Given the description of an element on the screen output the (x, y) to click on. 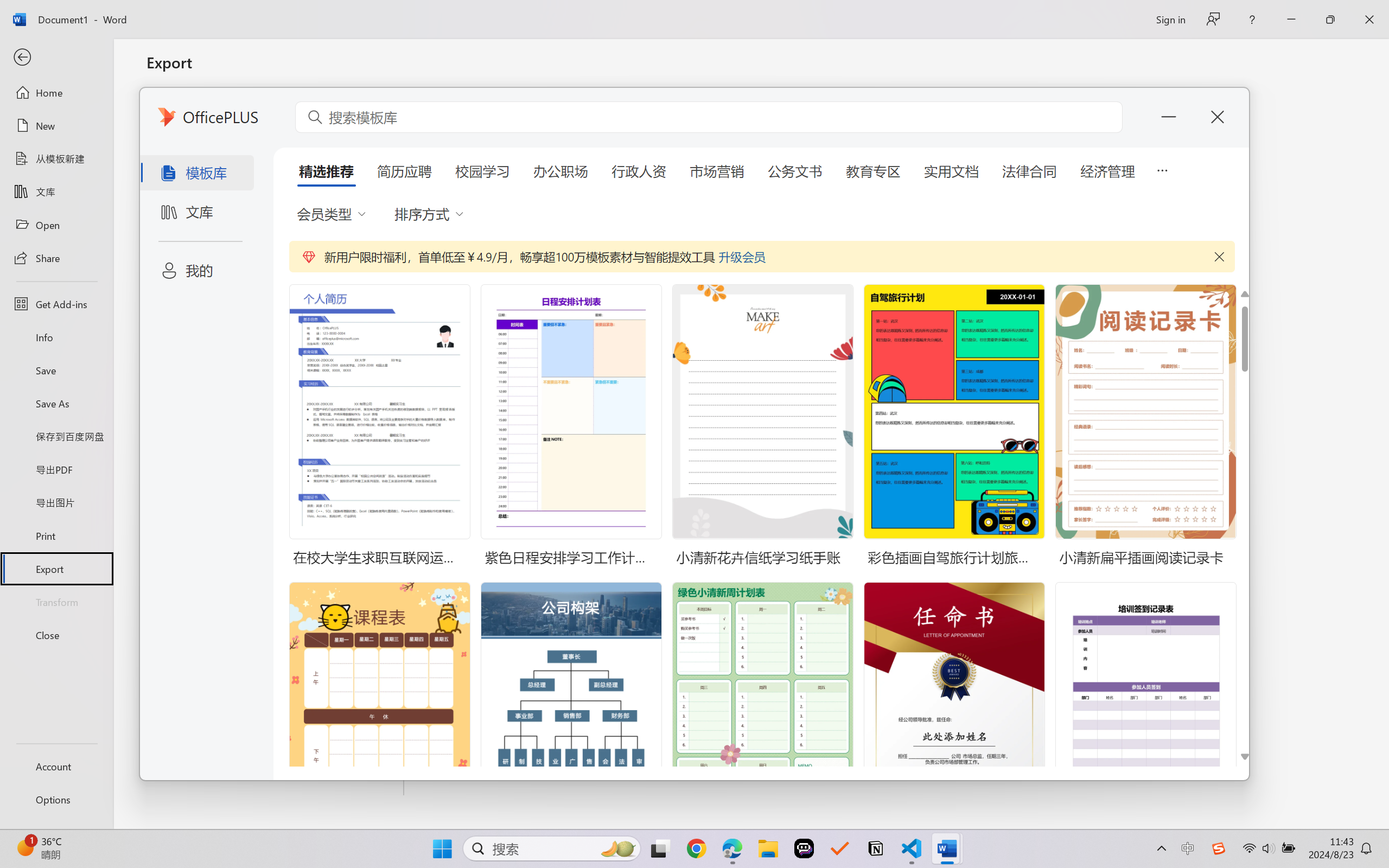
Send documents to Kindle (275, 205)
Back (56, 57)
Create PDF/XPS Document (275, 110)
Publishing Features (275, 449)
Save As (56, 403)
New (56, 125)
